Given the description of an element on the screen output the (x, y) to click on. 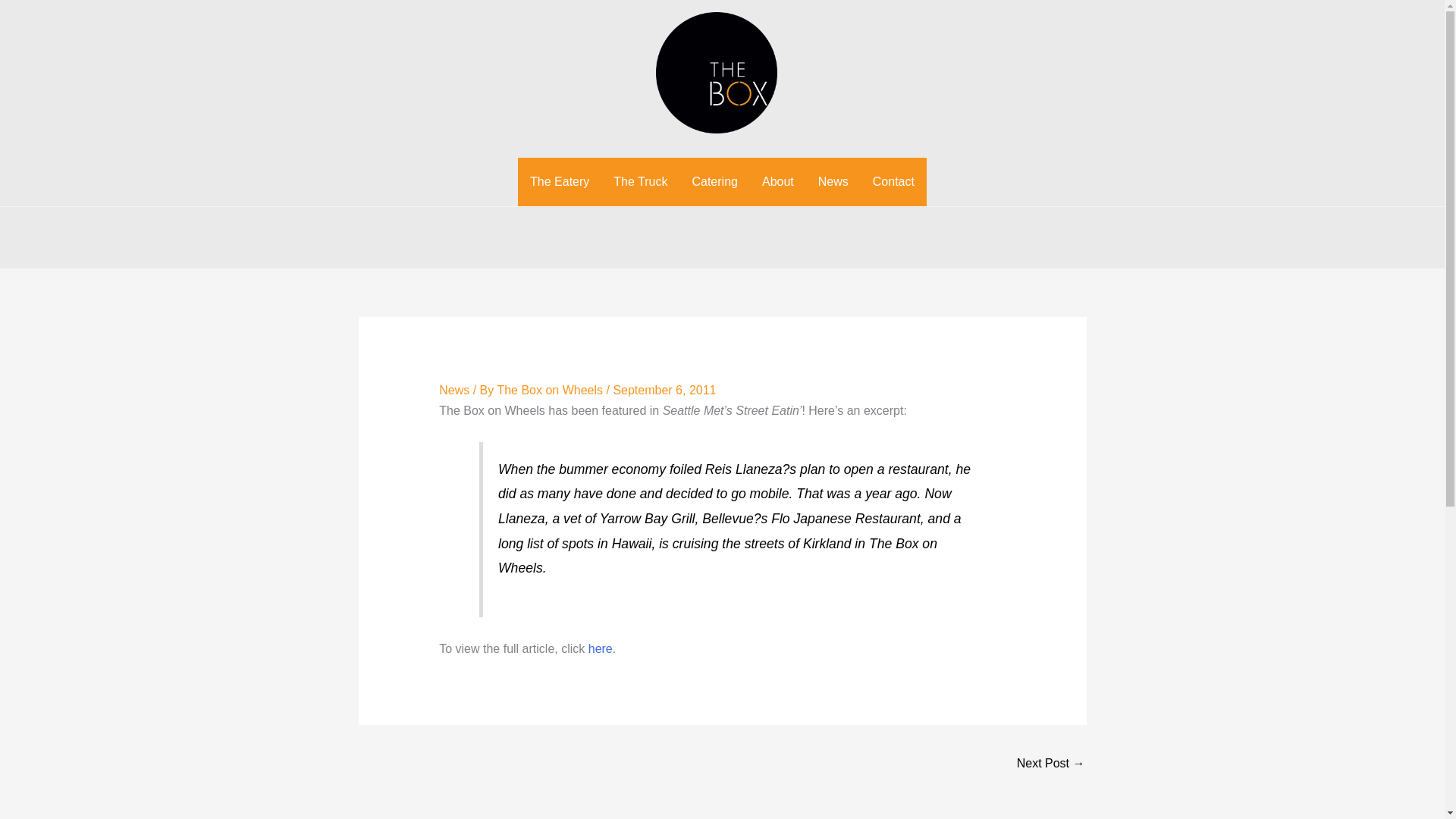
News (453, 390)
Contact (893, 182)
View all posts by The Box on Wheels (550, 390)
News (833, 182)
The Eatery (559, 182)
Catering (714, 182)
The Seattle Met (600, 648)
'The Box:' Asian-Fusion on Wheels (1050, 764)
here (600, 648)
The Truck (640, 182)
The Box on Wheels (550, 390)
About (777, 182)
